Given the description of an element on the screen output the (x, y) to click on. 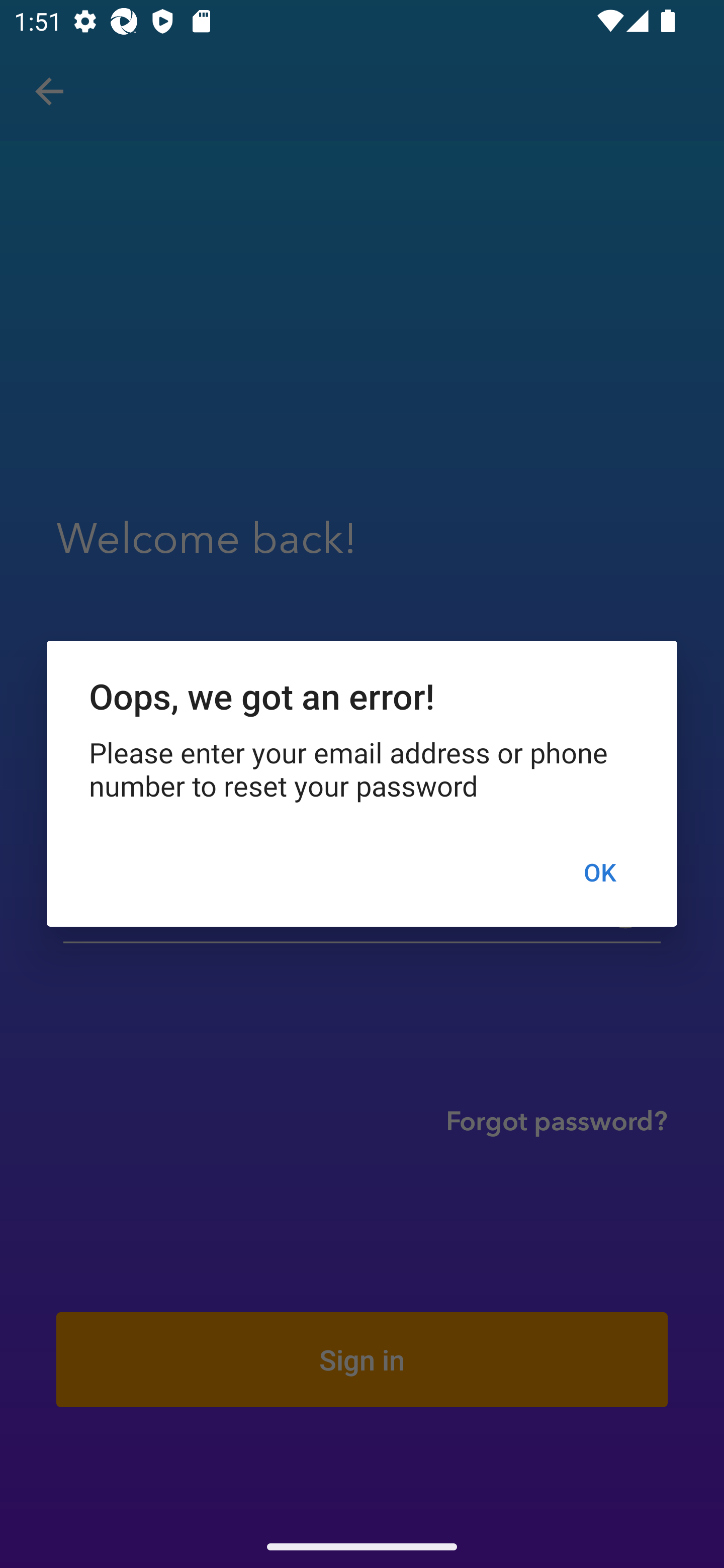
OK (599, 872)
